Given the description of an element on the screen output the (x, y) to click on. 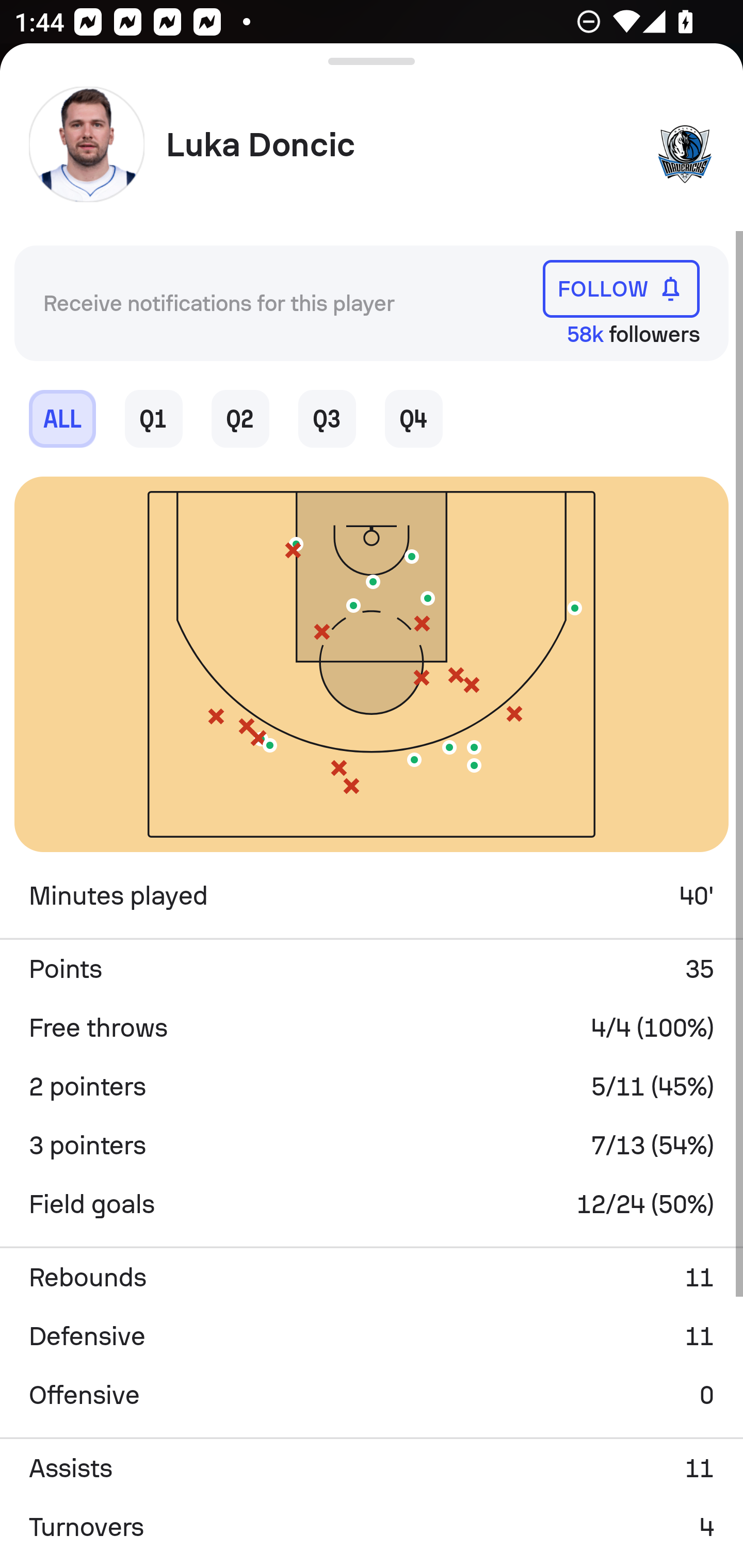
Luka Doncic (403, 144)
FOLLOW (621, 289)
ALL (62, 418)
Q1 (153, 418)
Q2 (239, 418)
Q3 (326, 418)
Q4 (413, 418)
Minutes played 40' (371, 896)
Points 35 (371, 968)
Free throws 4/4 (100%) (371, 1027)
2 pointers 5/11 (45%) (371, 1086)
3 pointers 7/13 (54%) (371, 1145)
Field goals 12/24 (50%) (371, 1204)
Rebounds 11 (371, 1277)
Defensive 11 (371, 1336)
Offensive 0 (371, 1395)
Assists 11 (371, 1468)
Turnovers 4 (371, 1527)
